Given the description of an element on the screen output the (x, y) to click on. 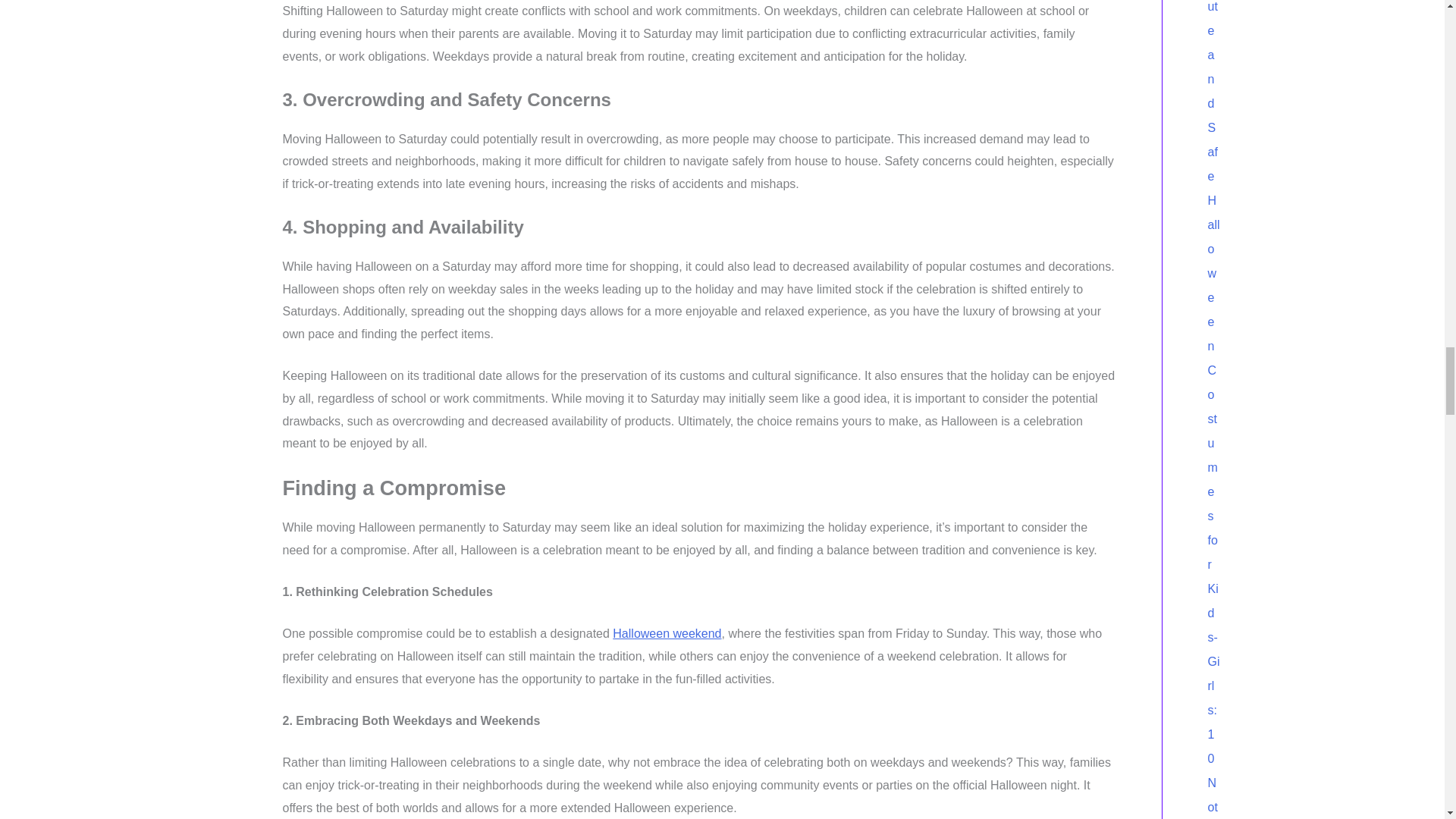
Halloween weekend (666, 633)
